Given the description of an element on the screen output the (x, y) to click on. 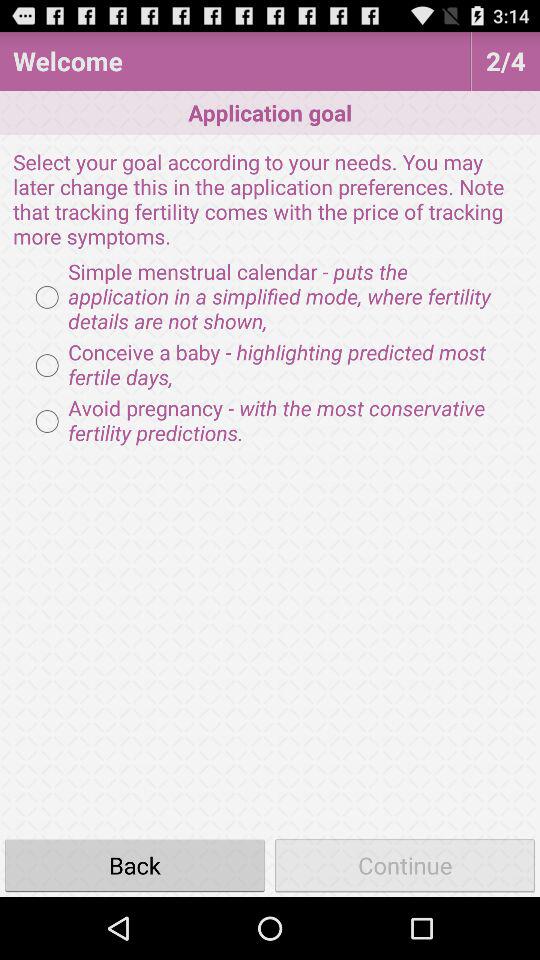
select item to the right of the back icon (405, 864)
